Given the description of an element on the screen output the (x, y) to click on. 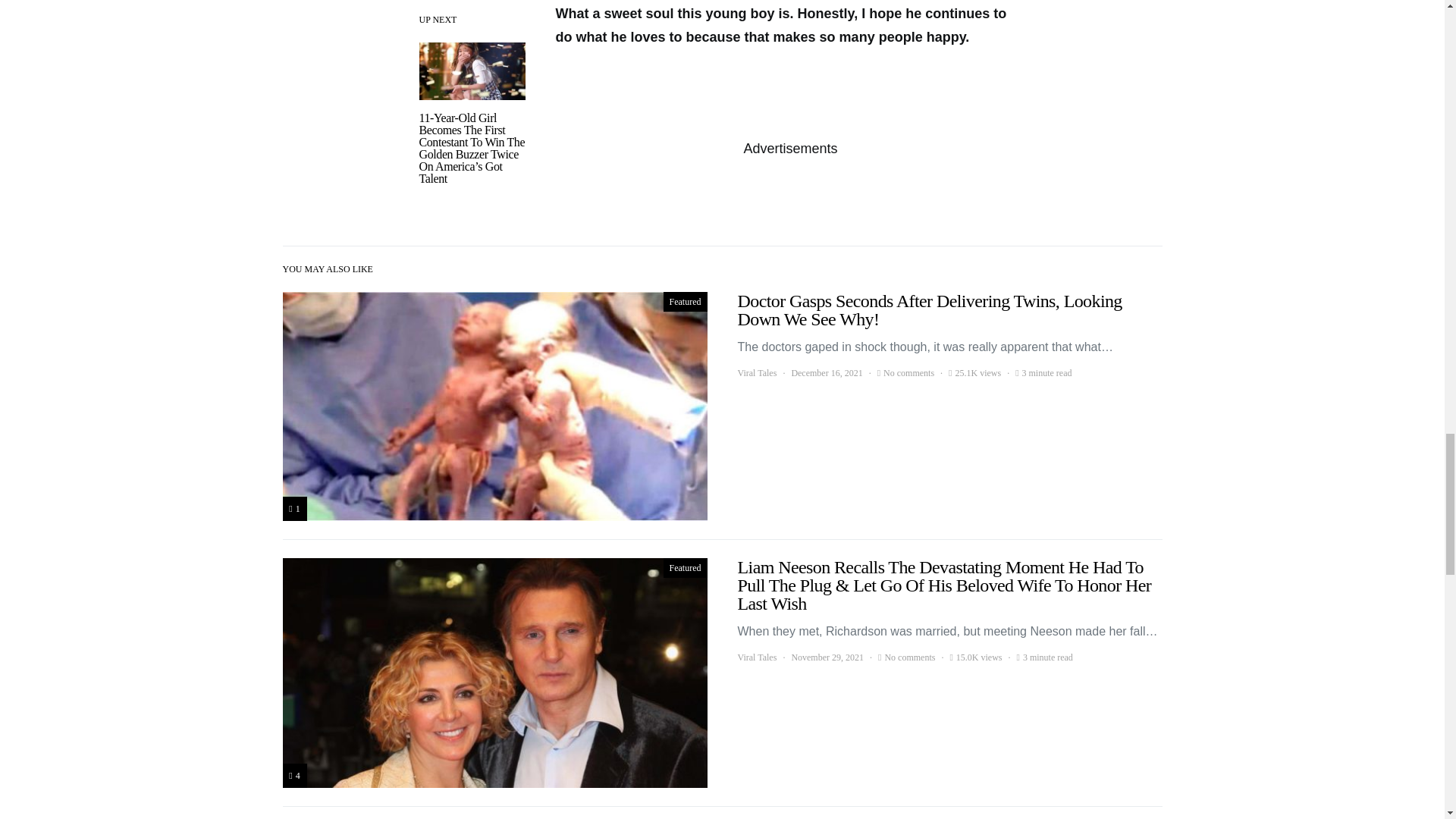
View all posts by Viral Tales (756, 373)
4 (293, 775)
No comments (908, 373)
No comments (908, 657)
Featured (685, 567)
Viral Tales (756, 373)
Viral Tales (756, 657)
View all posts by Viral Tales (756, 657)
Featured (685, 301)
1 (293, 508)
